Given the description of an element on the screen output the (x, y) to click on. 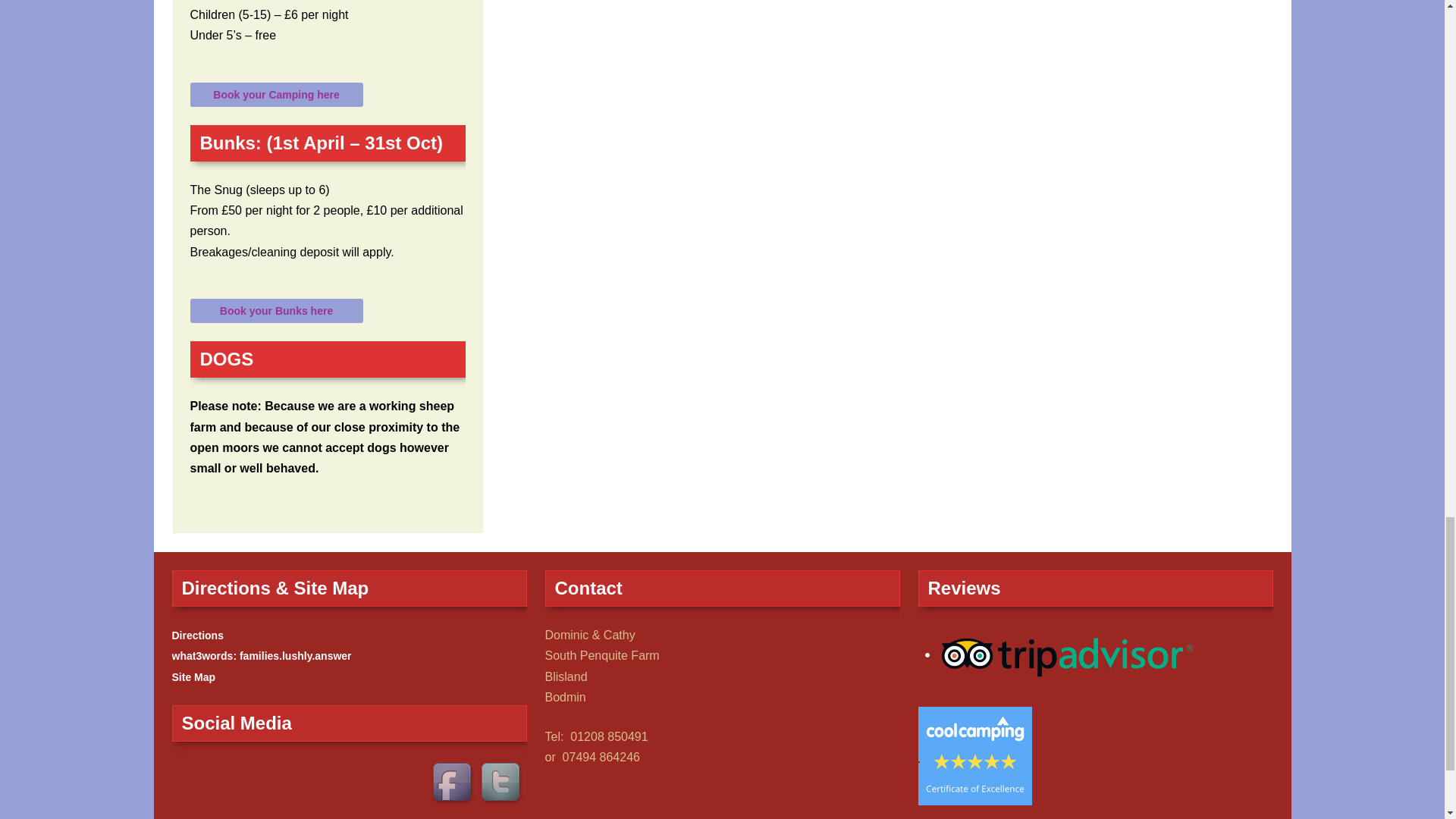
twitter (501, 784)
Recommended by Cool Camping (973, 755)
facebook (453, 784)
